Given the description of an element on the screen output the (x, y) to click on. 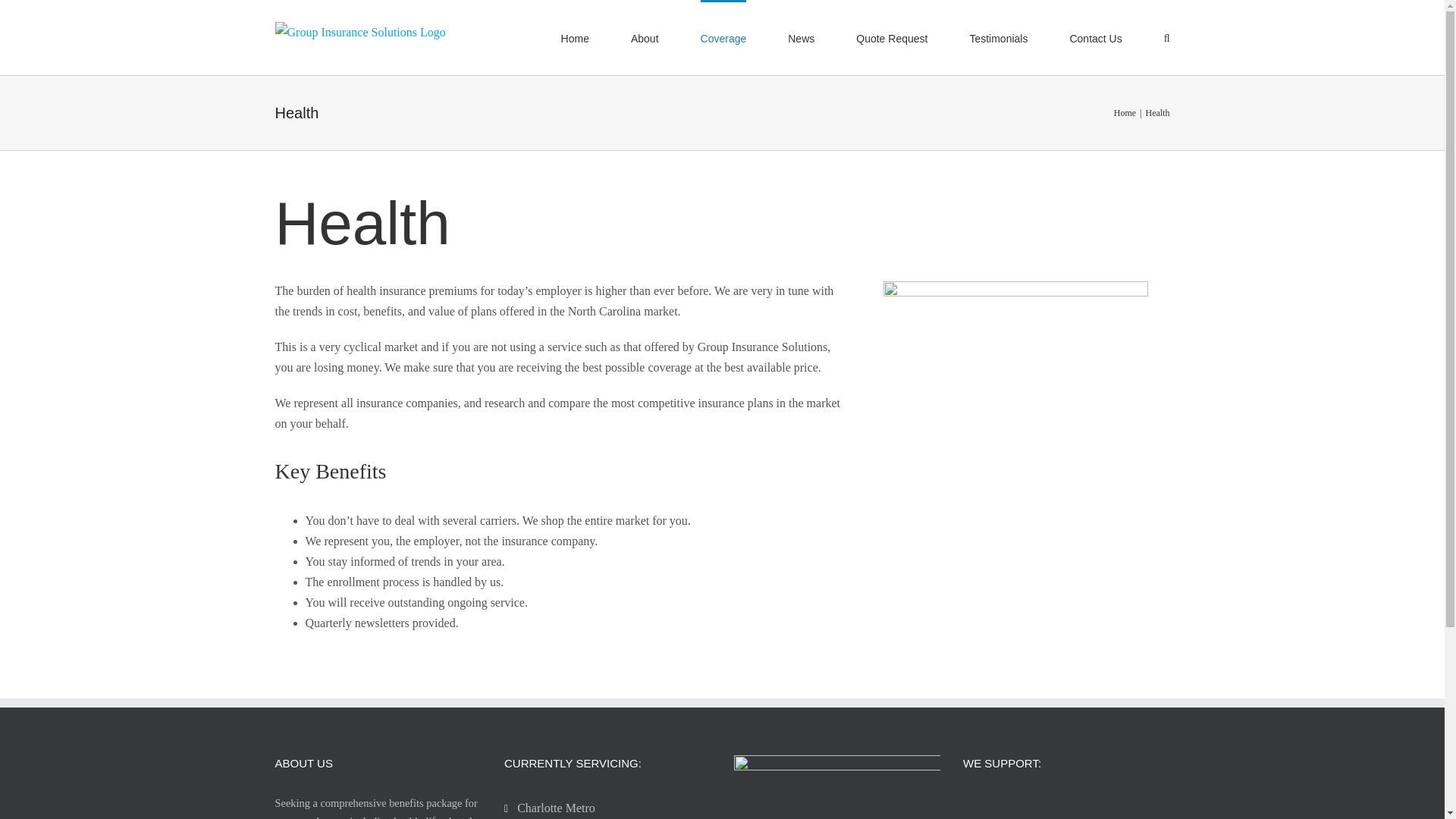
Quote Request (891, 37)
familybiking-2 (1015, 359)
